Given the description of an element on the screen output the (x, y) to click on. 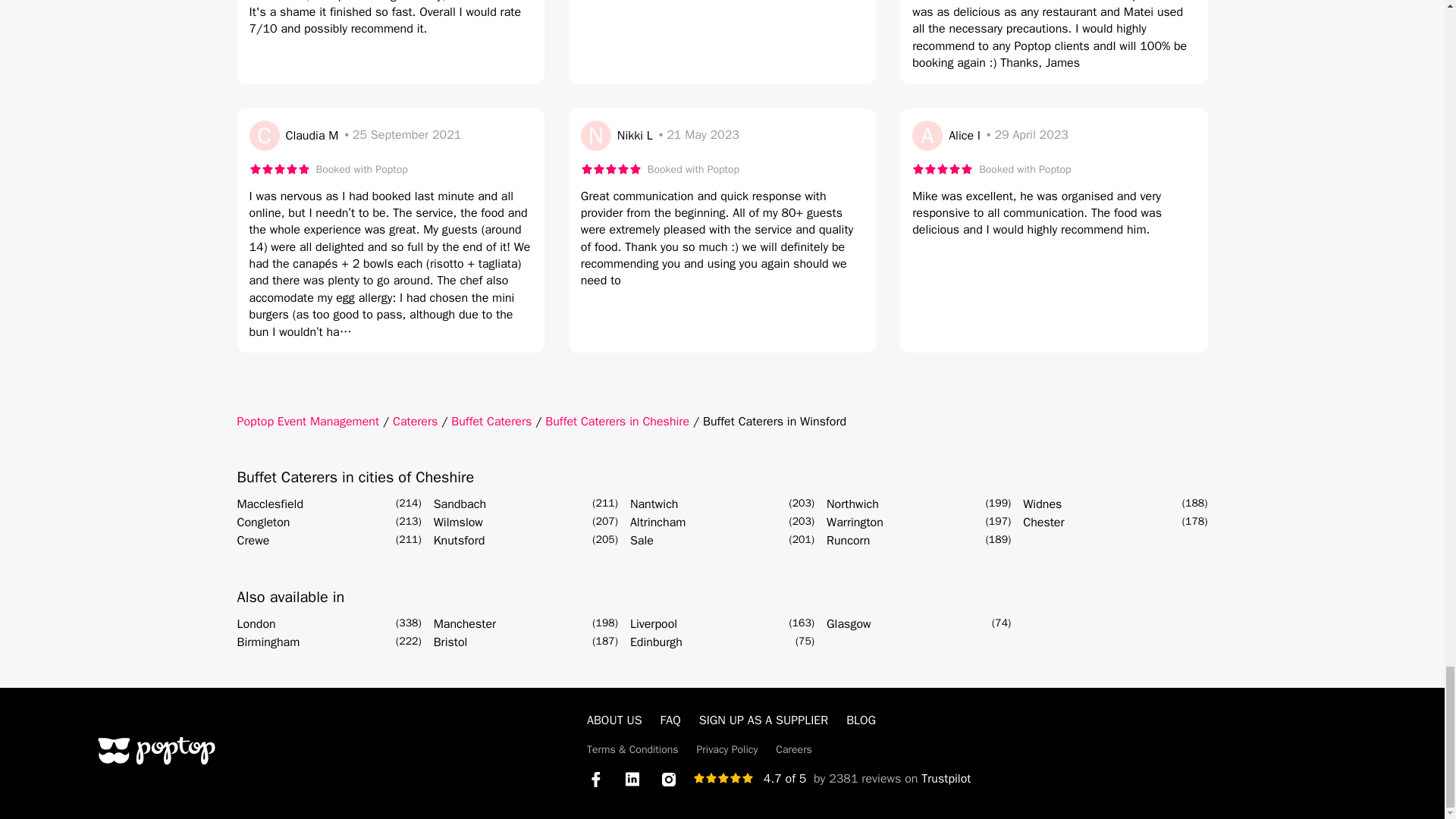
FAQ (671, 720)
Liverpool (653, 624)
Edinburgh (656, 642)
Buffet Caterers in Cheshire (616, 421)
Buffet Caterers (491, 421)
Bristol (450, 642)
Nantwich (654, 504)
Crewe (252, 540)
BLOG (860, 720)
Runcorn (848, 540)
